Given the description of an element on the screen output the (x, y) to click on. 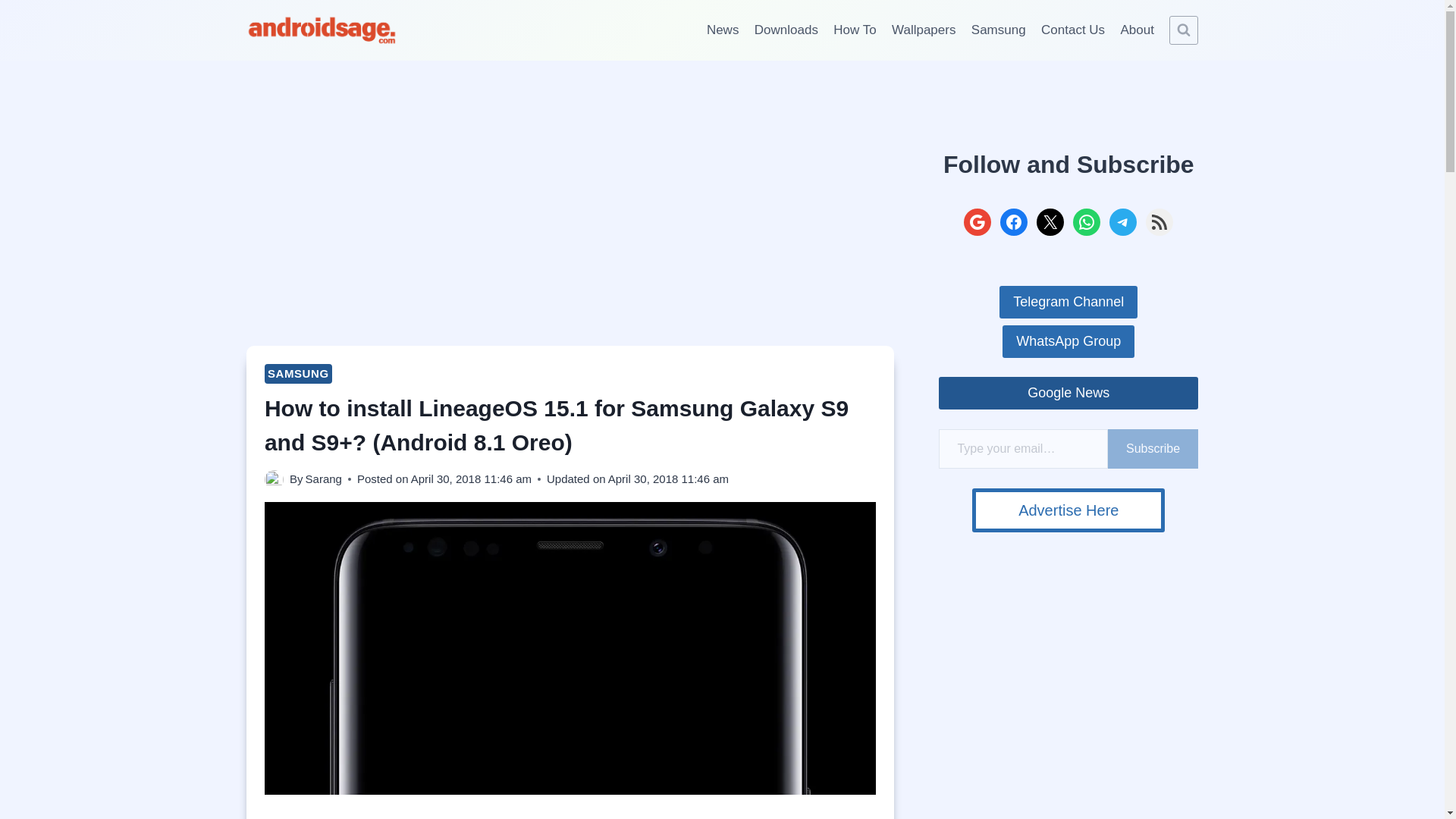
About (1136, 30)
Sarang (323, 478)
Downloads (785, 30)
SAMSUNG (297, 373)
News (722, 30)
How To (854, 30)
Contact Us (1072, 30)
Samsung (998, 30)
Wallpapers (923, 30)
